Given the description of an element on the screen output the (x, y) to click on. 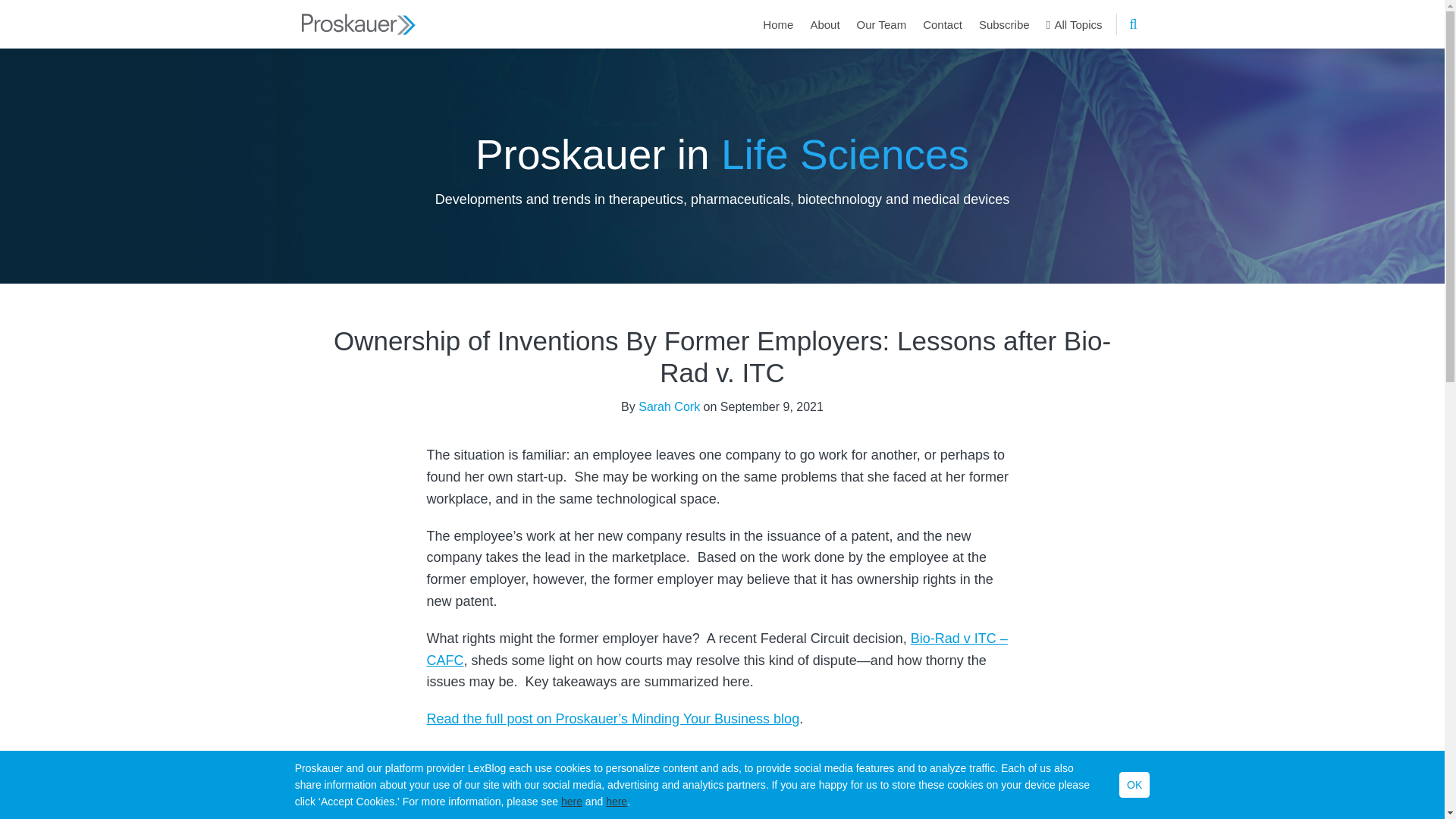
Patent Infringement (917, 806)
UNITED STATES INTERNATIONAL TRADE COMMISSION (704, 816)
inventorship (824, 806)
Our Team (882, 24)
Intellectual Property (732, 806)
Bio-Rad v. ITC (502, 806)
COMMERCIAL LITIGATION (548, 769)
here (616, 801)
OK (1134, 784)
Proskauer in Life Sciences (722, 153)
